Given the description of an element on the screen output the (x, y) to click on. 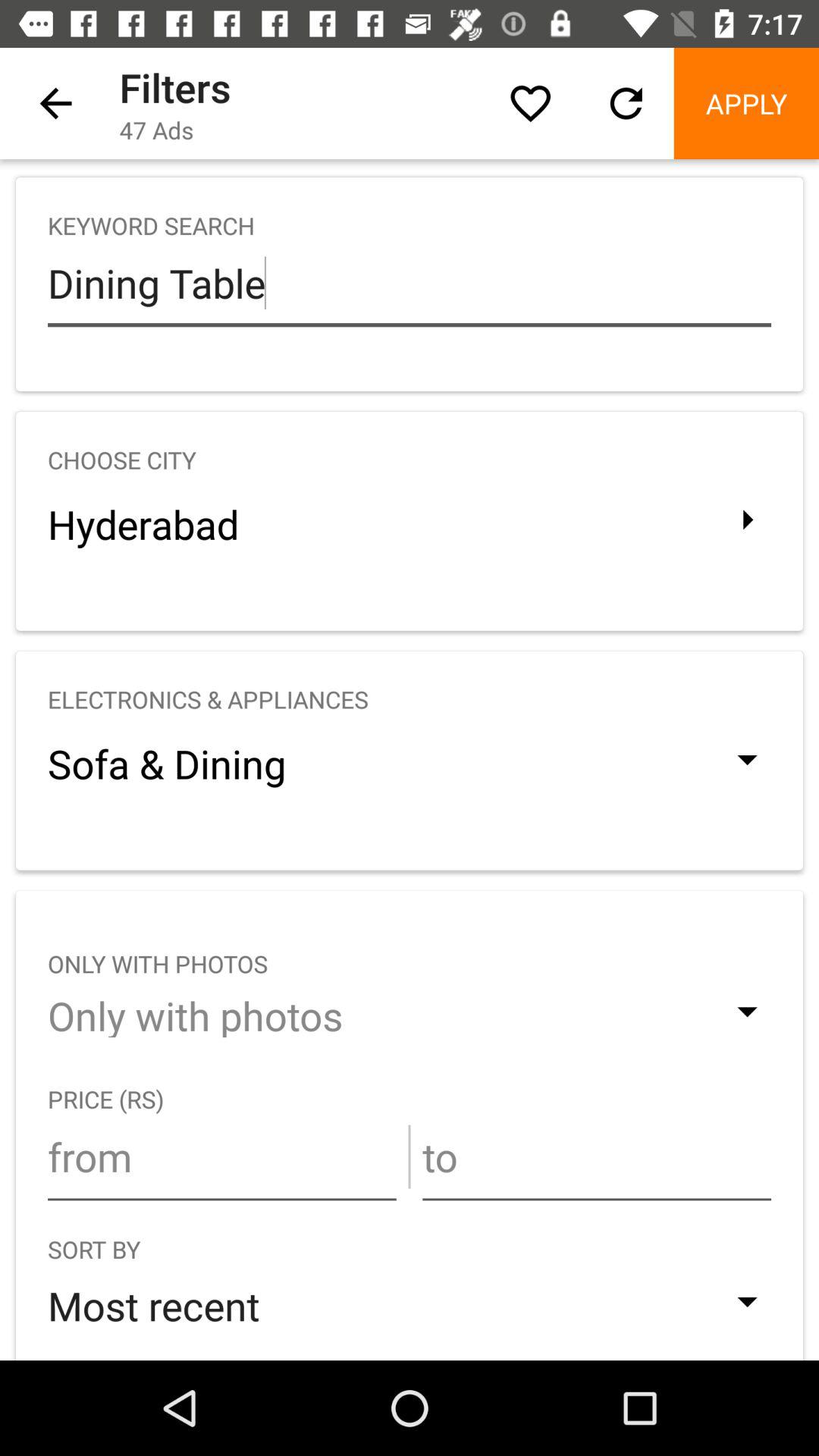
turn on the icon next to filters (55, 103)
